Given the description of an element on the screen output the (x, y) to click on. 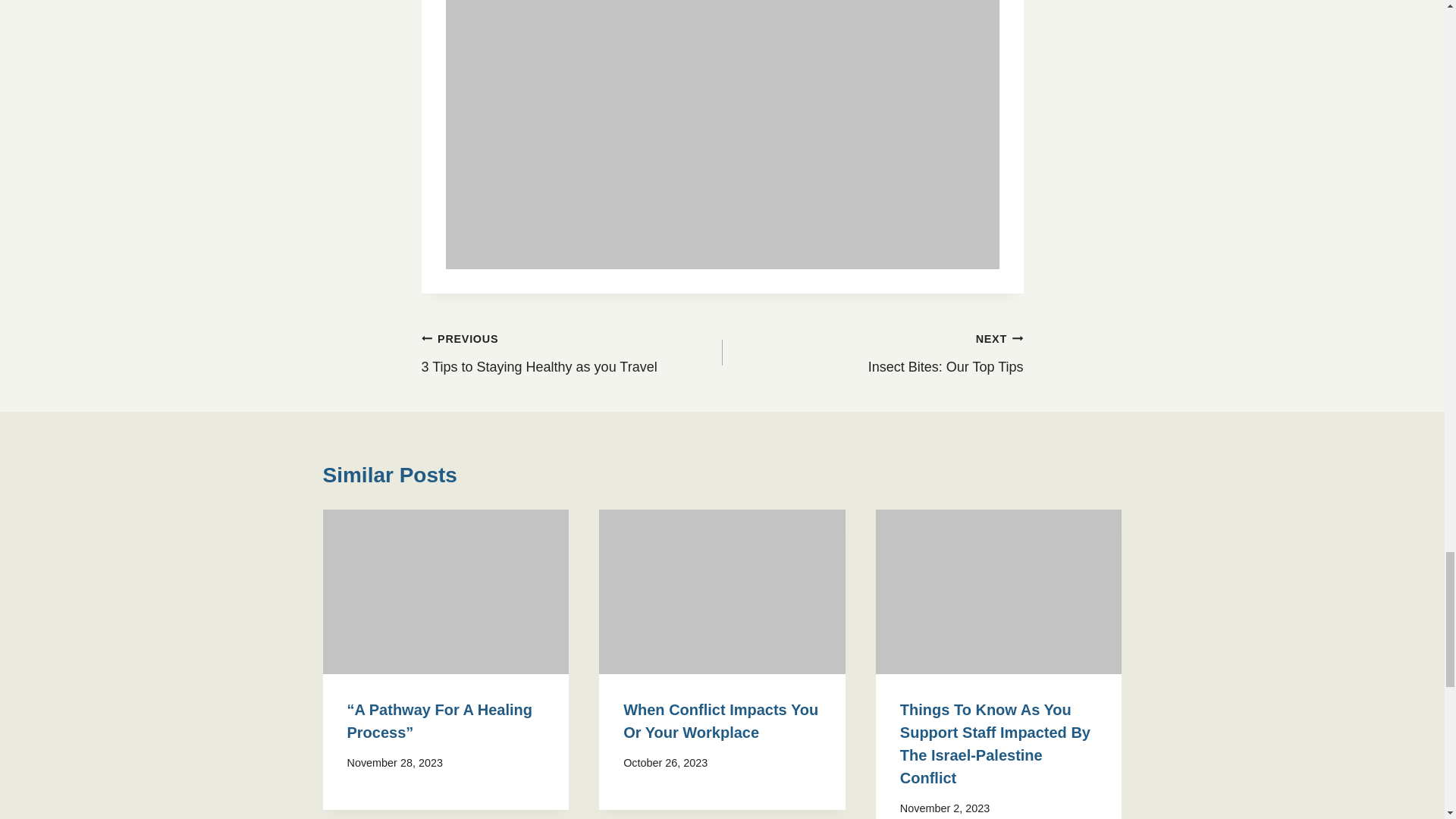
When Conflict Impacts You Or Your Workplace (720, 721)
